Given the description of an element on the screen output the (x, y) to click on. 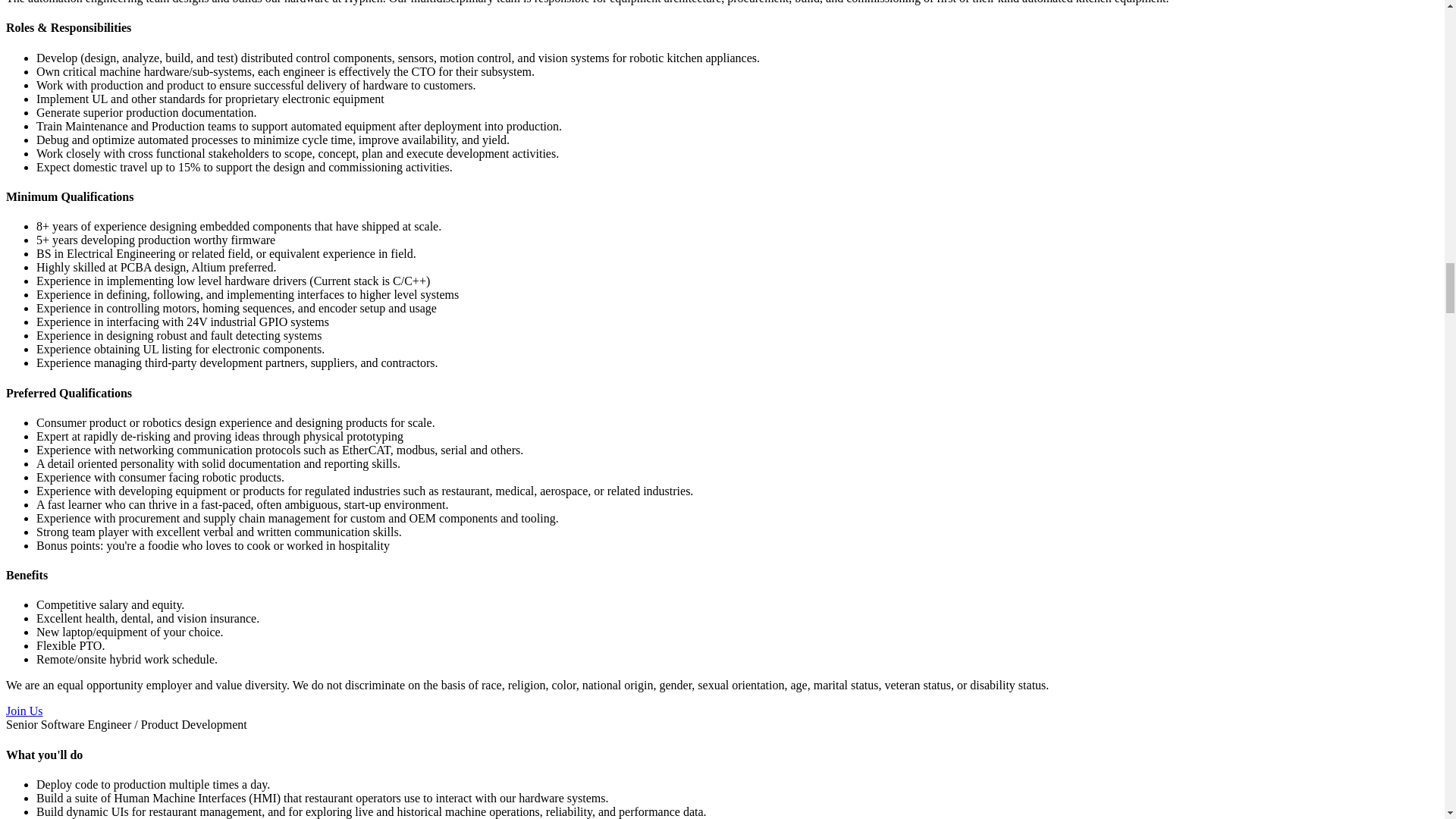
Join Us (23, 710)
